Given the description of an element on the screen output the (x, y) to click on. 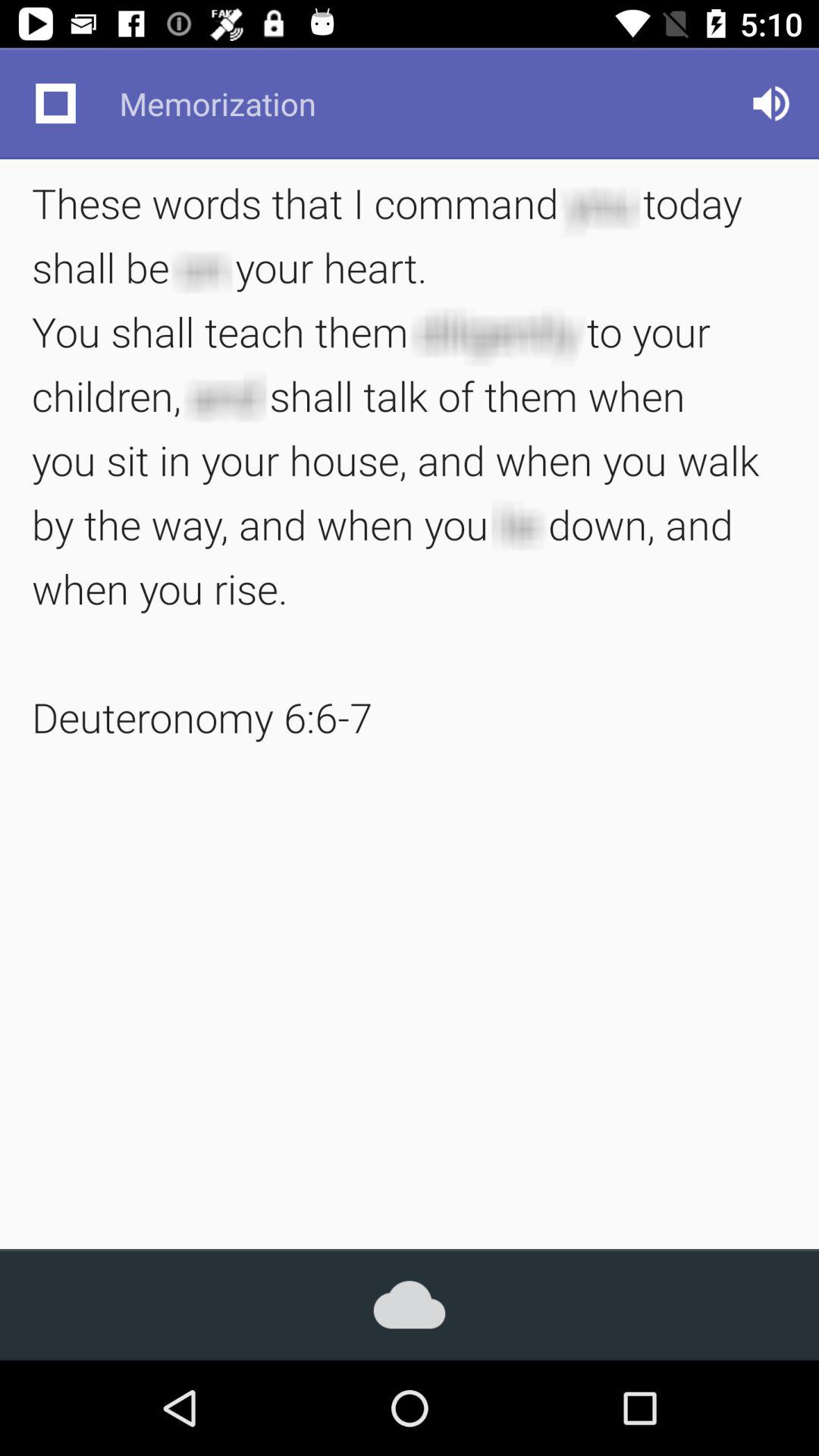
tap these words that item (409, 459)
